Given the description of an element on the screen output the (x, y) to click on. 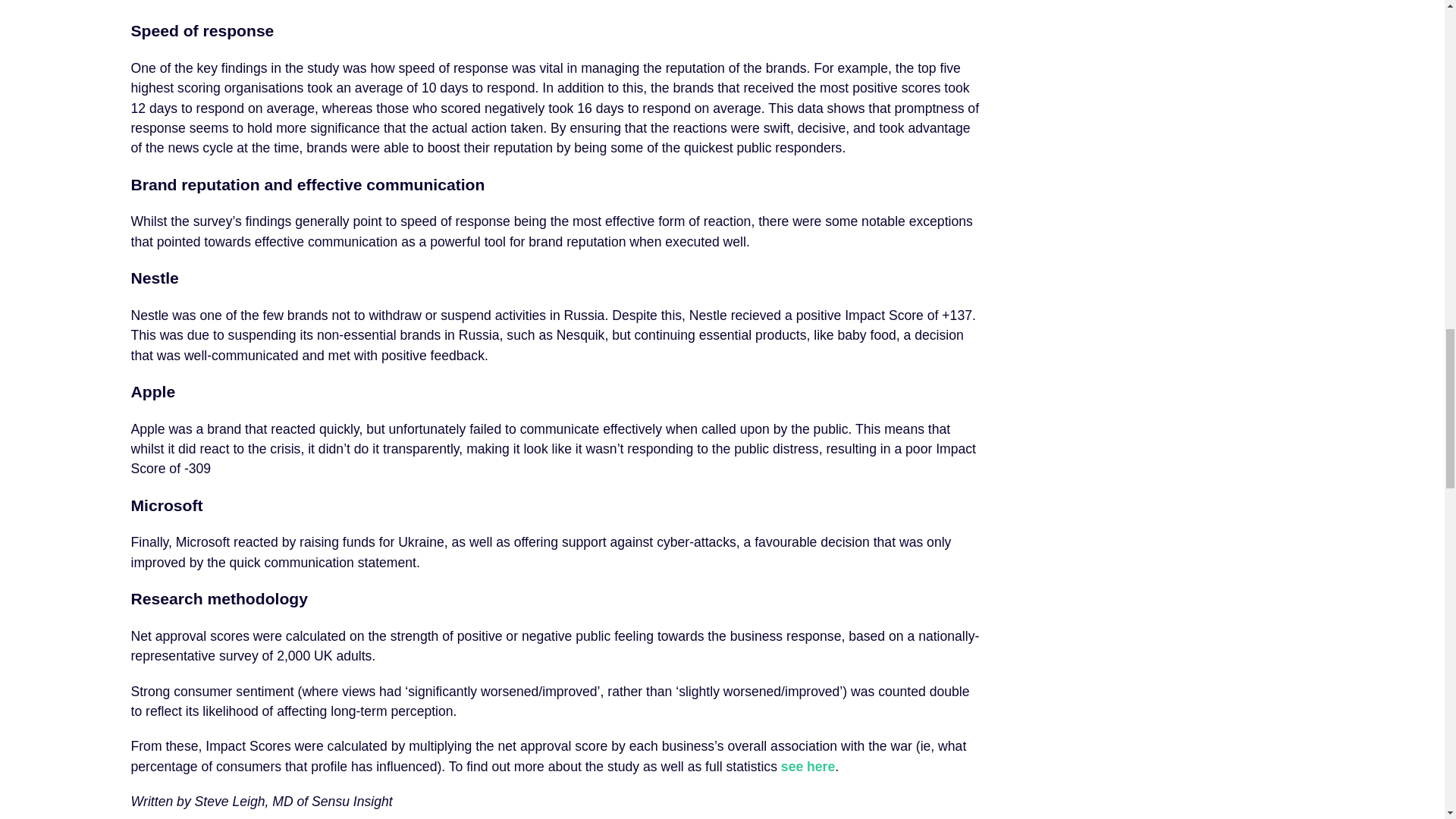
see here (807, 766)
